Given the description of an element on the screen output the (x, y) to click on. 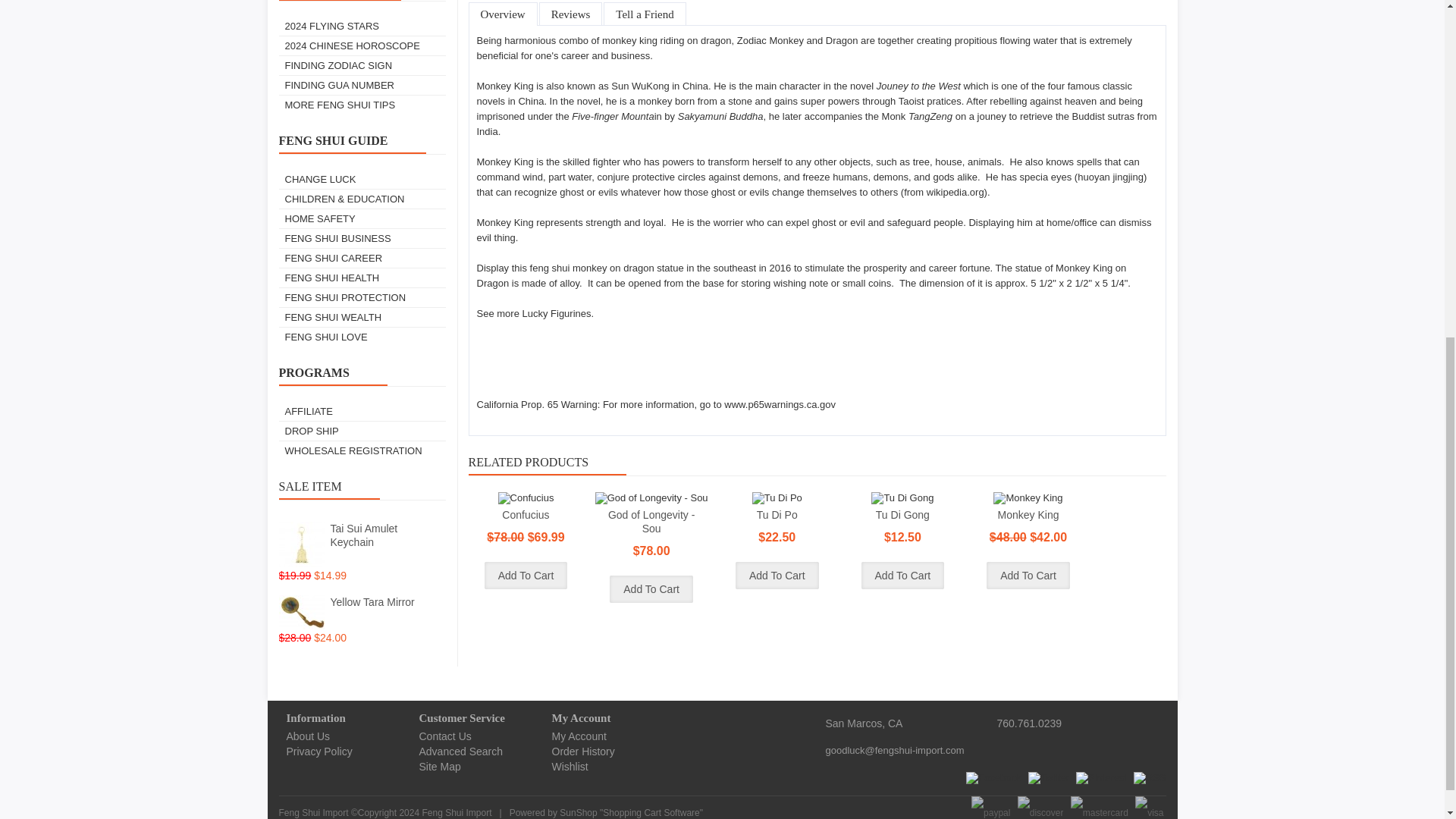
Add To Cart (902, 574)
Pinterest (1100, 777)
Add To Cart (776, 574)
Add To Cart (651, 588)
Twitter (1047, 777)
RSS (1150, 777)
Add To Cart (1028, 574)
Add To Cart (525, 574)
Ecommerce Shopping Cart Software (650, 812)
Facebook (994, 777)
